Given the description of an element on the screen output the (x, y) to click on. 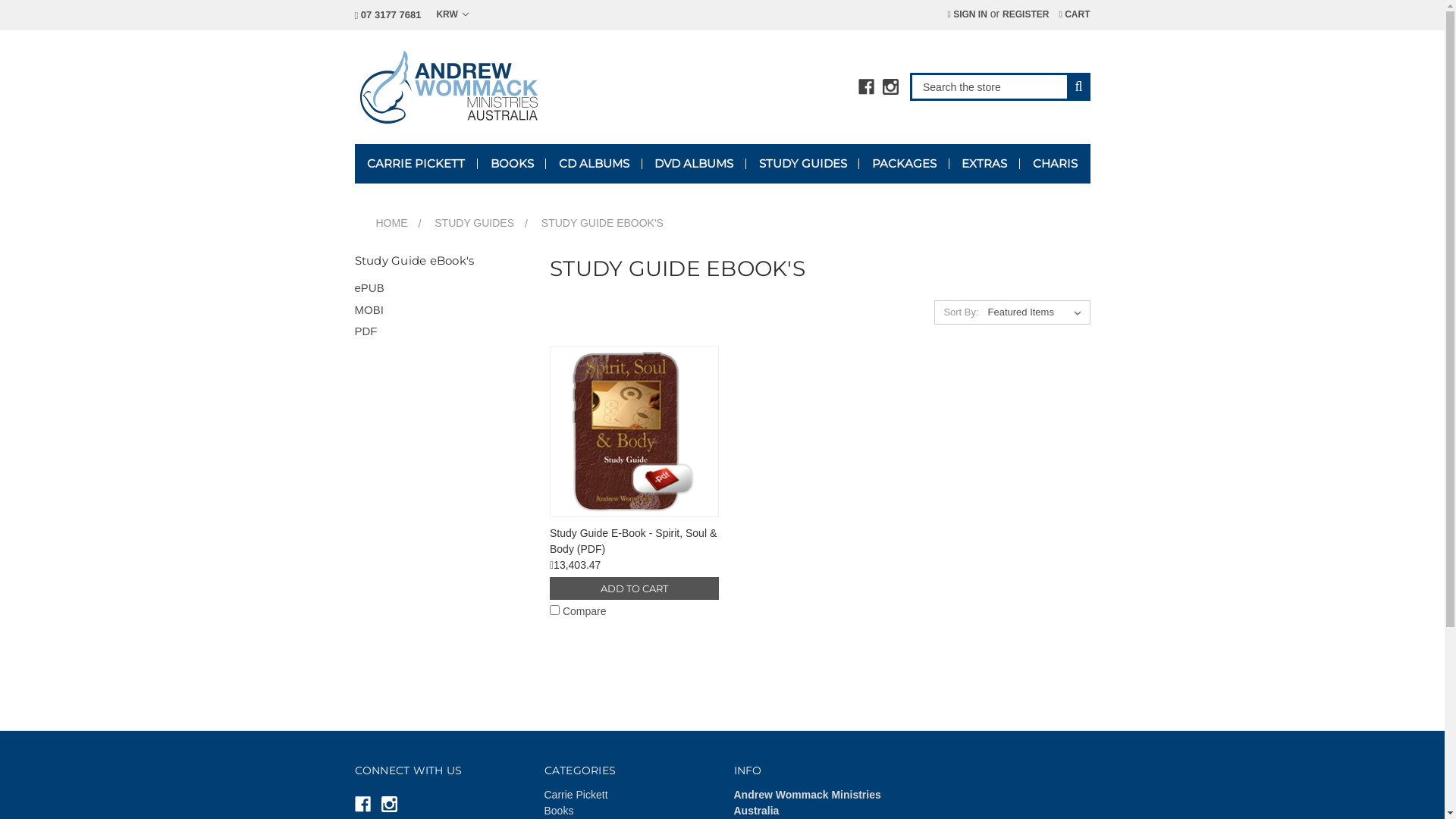
CHARIS Element type: text (1054, 164)
Books Element type: text (559, 810)
CARRIE PICKETT Element type: text (415, 164)
STUDY GUIDES Element type: text (802, 164)
PDF Element type: text (440, 331)
CD ALBUMS Element type: text (593, 164)
KRW Element type: text (452, 14)
HOME Element type: text (391, 222)
Carrie Pickett Element type: text (576, 794)
PACKAGES Element type: text (903, 164)
Study Guide E-Book - Spirit, Soul & Body (PDF) Element type: hover (634, 431)
Andrew Wommack Ministries Australia Element type: hover (449, 86)
REGISTER Element type: text (1025, 14)
DVD ALBUMS Element type: text (694, 164)
CART Element type: text (1074, 14)
SIGN IN Element type: text (966, 14)
BOOKS Element type: text (511, 164)
Study Guide E-Book - Spirit, Soul & Body (PDF) Element type: text (632, 541)
ADD TO CART Element type: text (633, 588)
MOBI Element type: text (440, 310)
 07 3177 7681 Element type: text (388, 15)
ePUB Element type: text (440, 288)
STUDY GUIDES Element type: text (474, 222)
EXTRAS Element type: text (984, 164)
